Given the description of an element on the screen output the (x, y) to click on. 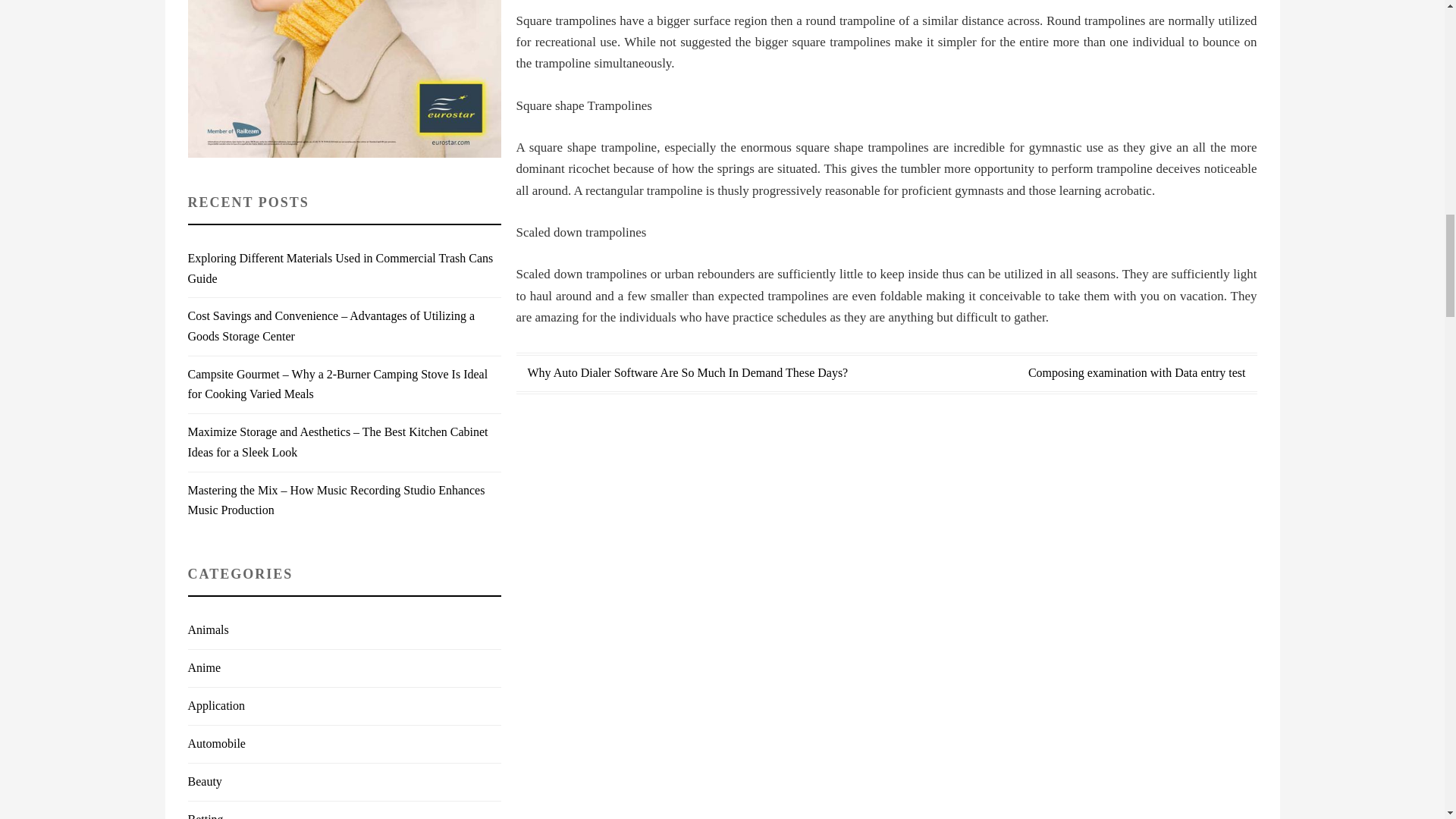
Composing examination with Data entry test (1136, 372)
Why Auto Dialer Software Are So Much In Demand These Days? (687, 372)
